Given the description of an element on the screen output the (x, y) to click on. 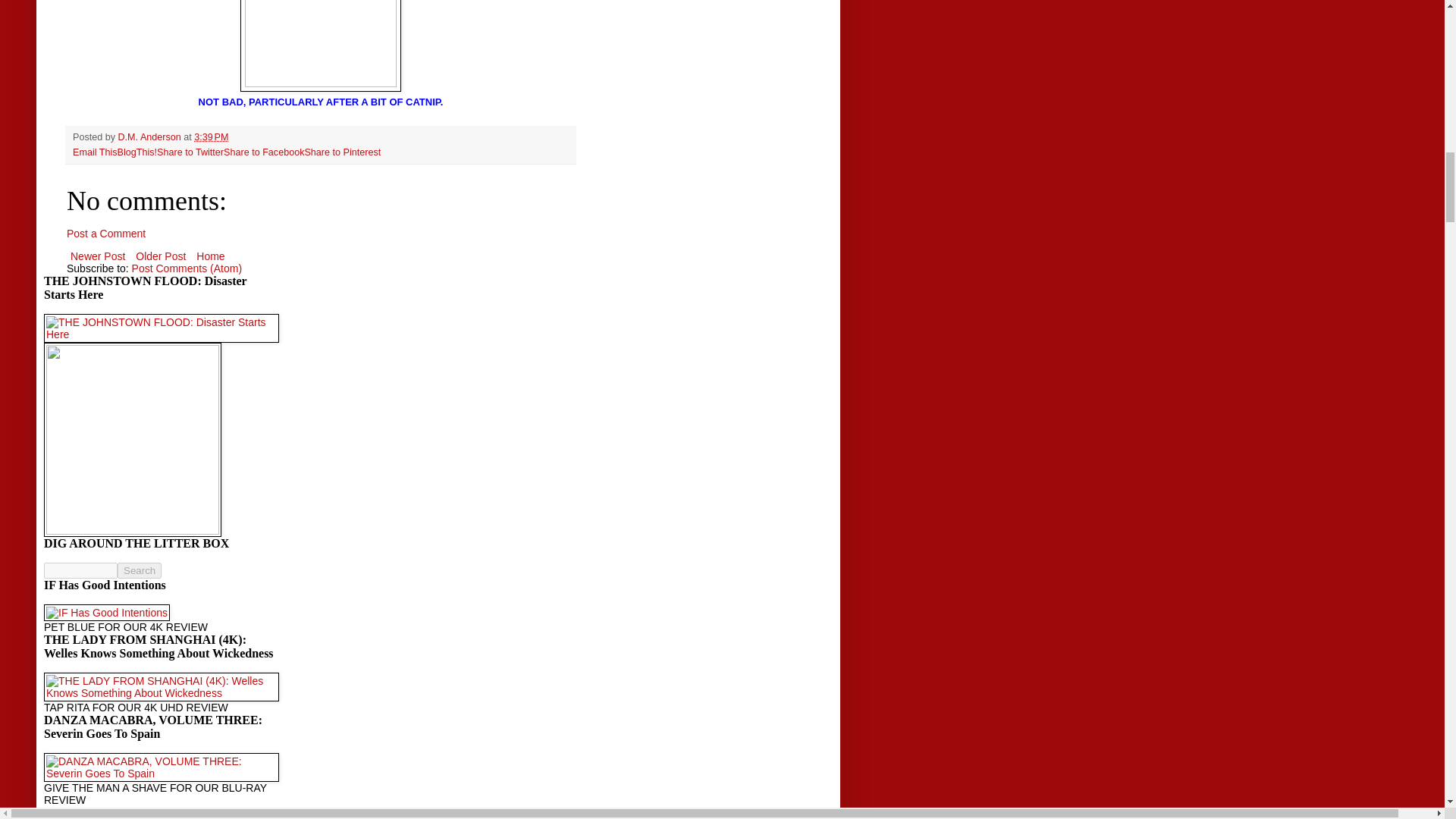
Search (139, 570)
author profile (150, 136)
Email Post (237, 136)
D.M. Anderson (150, 136)
Older Post (160, 256)
BlogThis! (137, 152)
search (80, 570)
Share to Twitter (190, 152)
BlogThis! (137, 152)
Email This (94, 152)
